Given the description of an element on the screen output the (x, y) to click on. 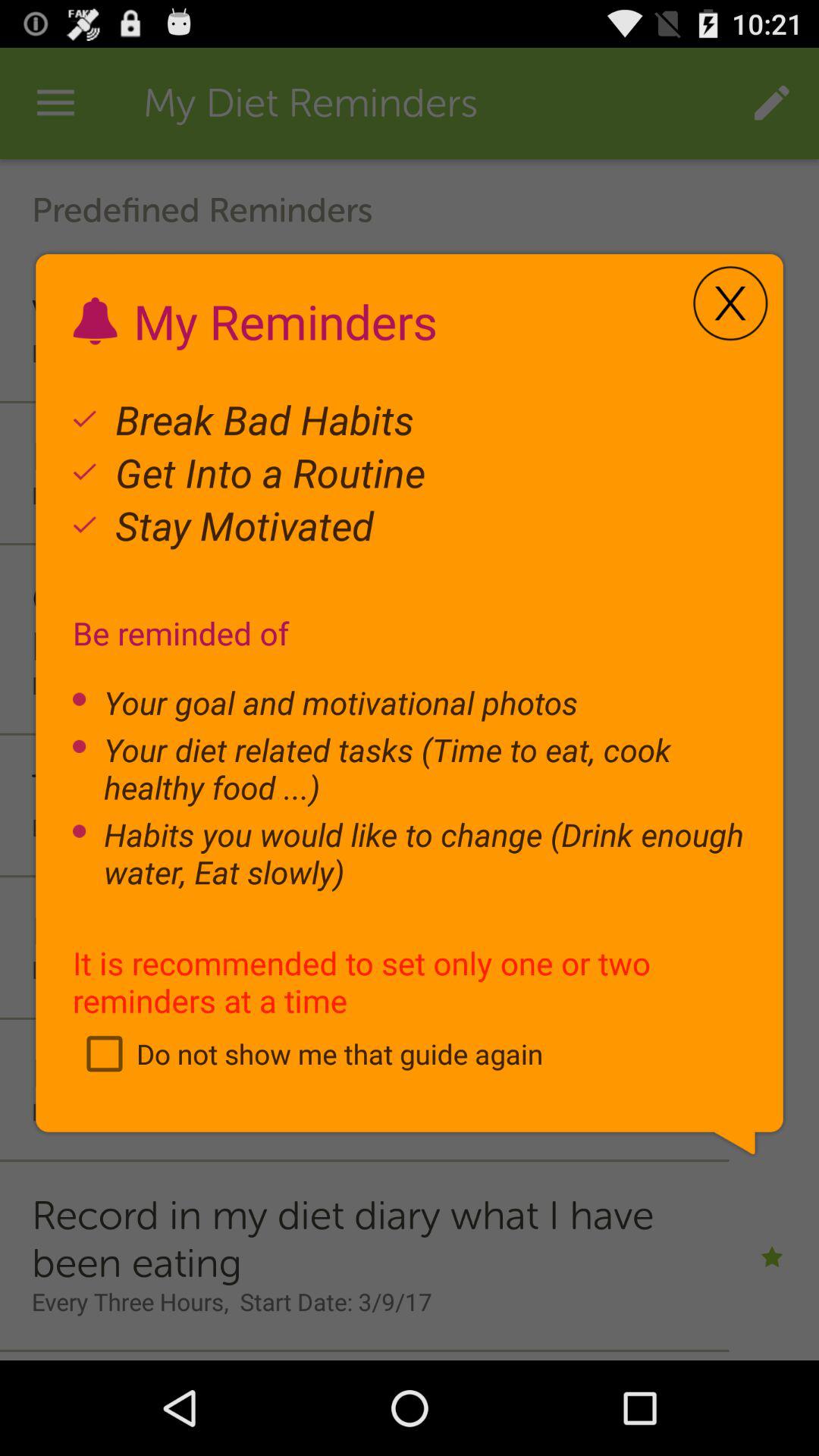
turn off item below the it is recommended item (307, 1053)
